Given the description of an element on the screen output the (x, y) to click on. 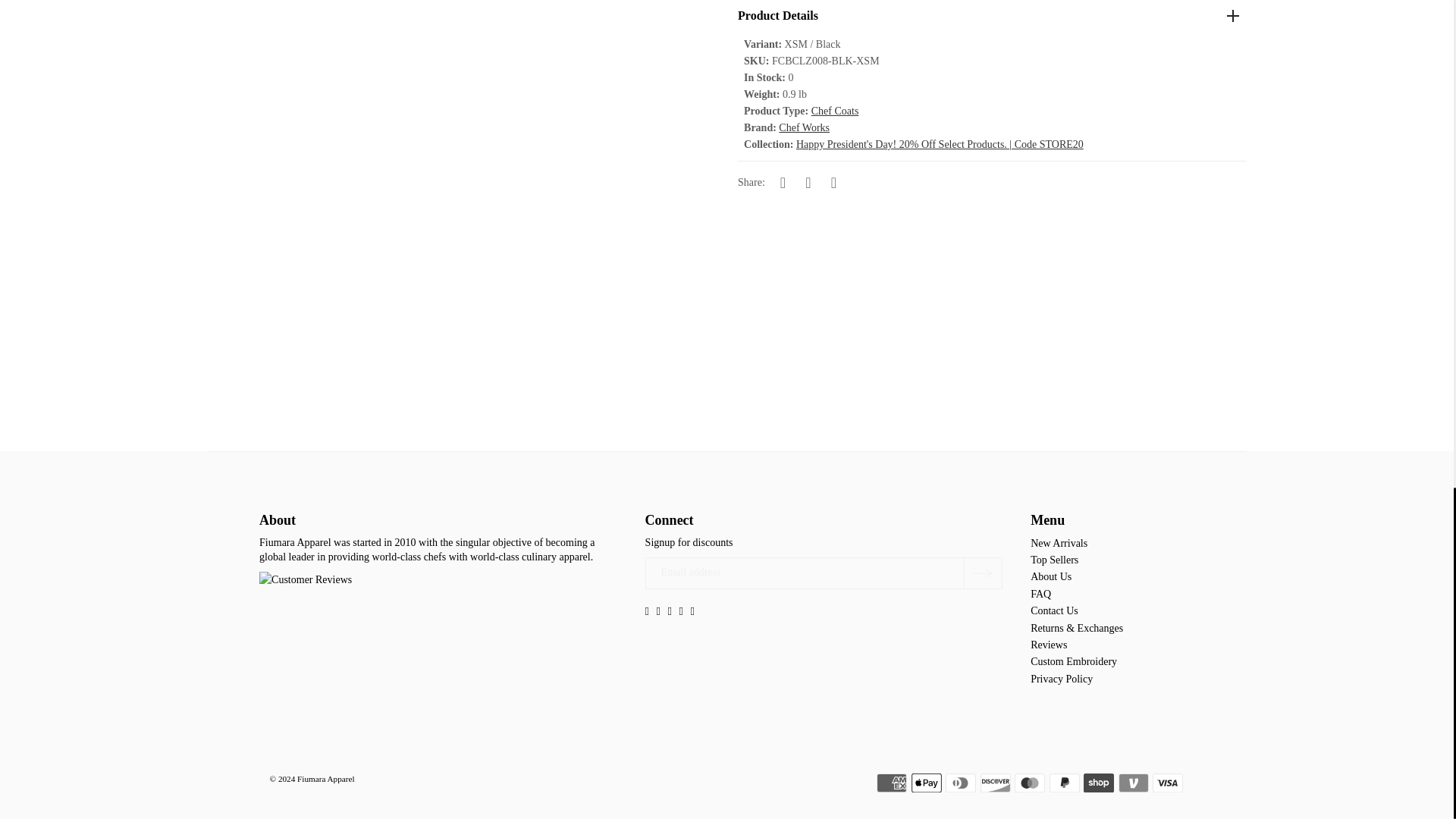
Chef Coats (834, 111)
Share on Facebook (782, 181)
Share on Pinterest (833, 181)
Shop Pay (1098, 782)
Discover (994, 782)
Venmo (1133, 782)
Mastercard (1029, 782)
Chef Works (803, 127)
Apple Pay (926, 782)
PayPal (1064, 782)
